Given the description of an element on the screen output the (x, y) to click on. 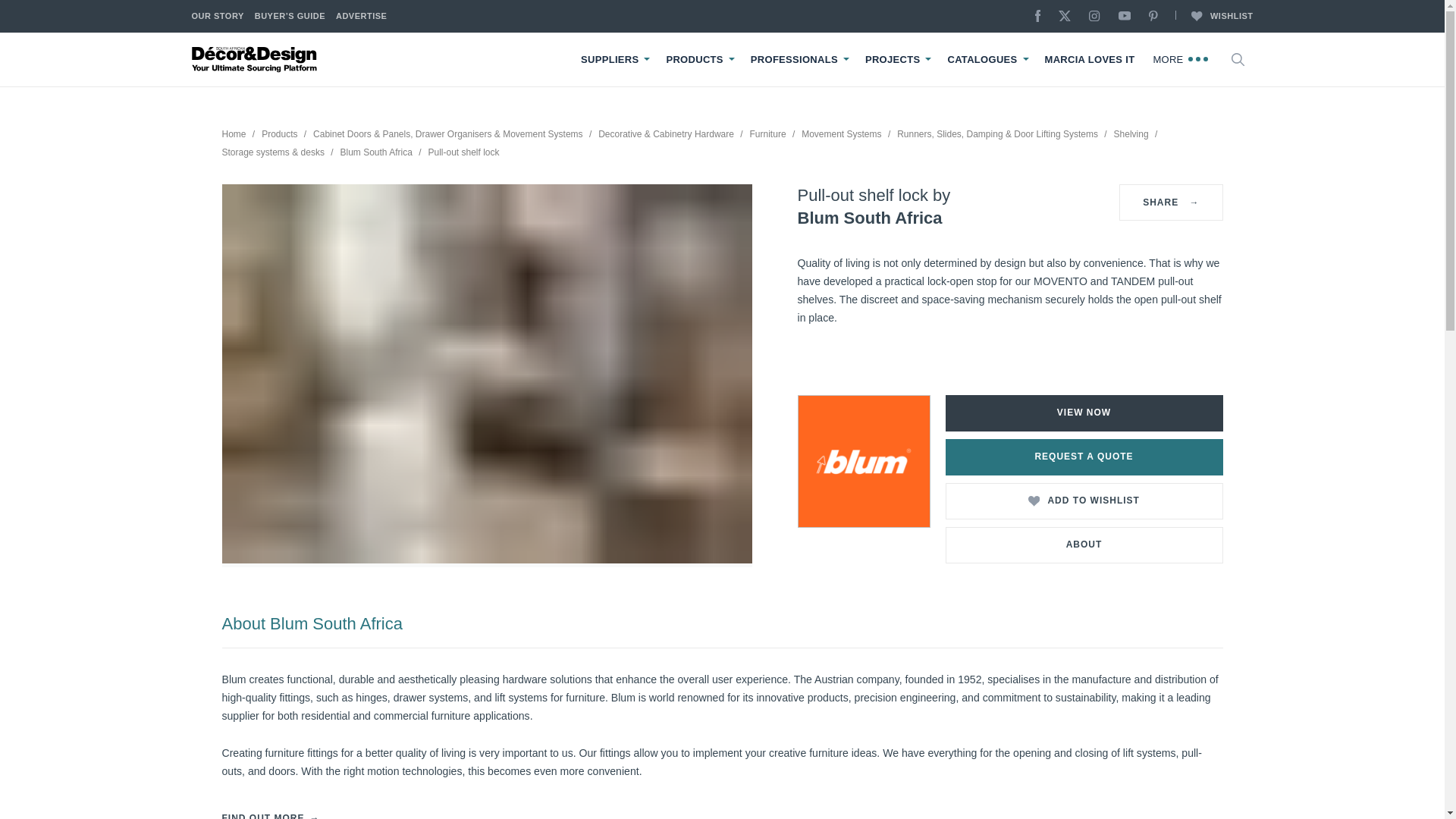
OUR STORY (216, 16)
SUPPLIERS (609, 60)
Logo (255, 58)
Blum South Africa (862, 461)
ADVERTISE (361, 16)
WISHLIST (1213, 16)
